Given the description of an element on the screen output the (x, y) to click on. 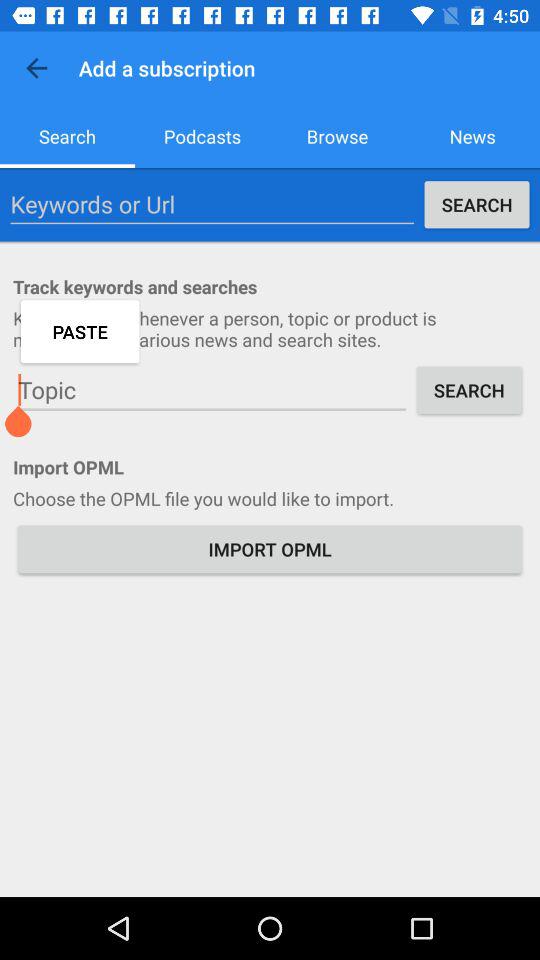
select item below the add a subscription (202, 136)
